Given the description of an element on the screen output the (x, y) to click on. 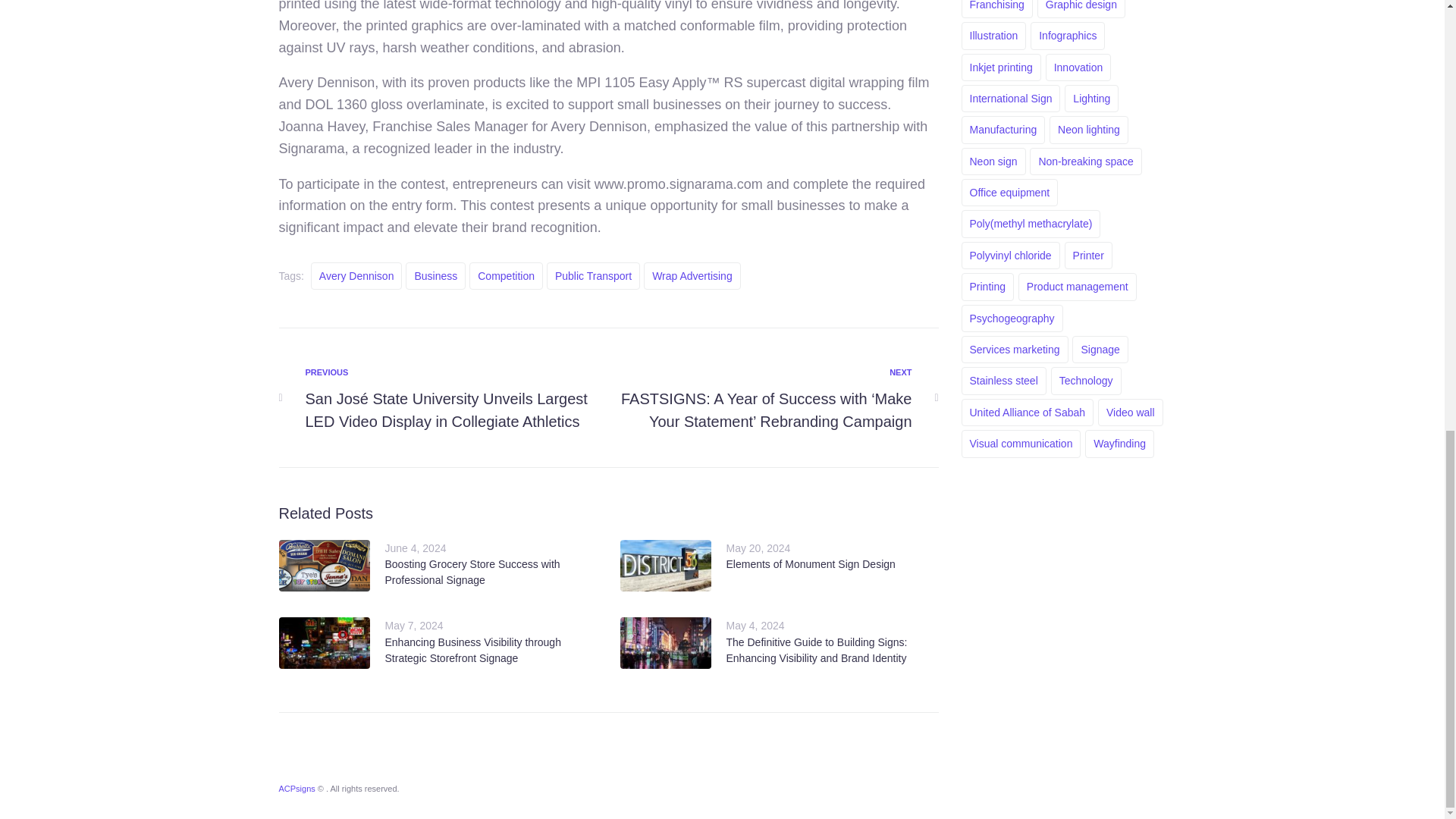
Public Transport (593, 275)
Boosting Grocery Store Success with Professional Signage (472, 571)
Business (435, 275)
Competition (505, 275)
Wrap Advertising (692, 275)
Elements of Monument Sign Design (810, 563)
Avery Dennison (357, 275)
